Given the description of an element on the screen output the (x, y) to click on. 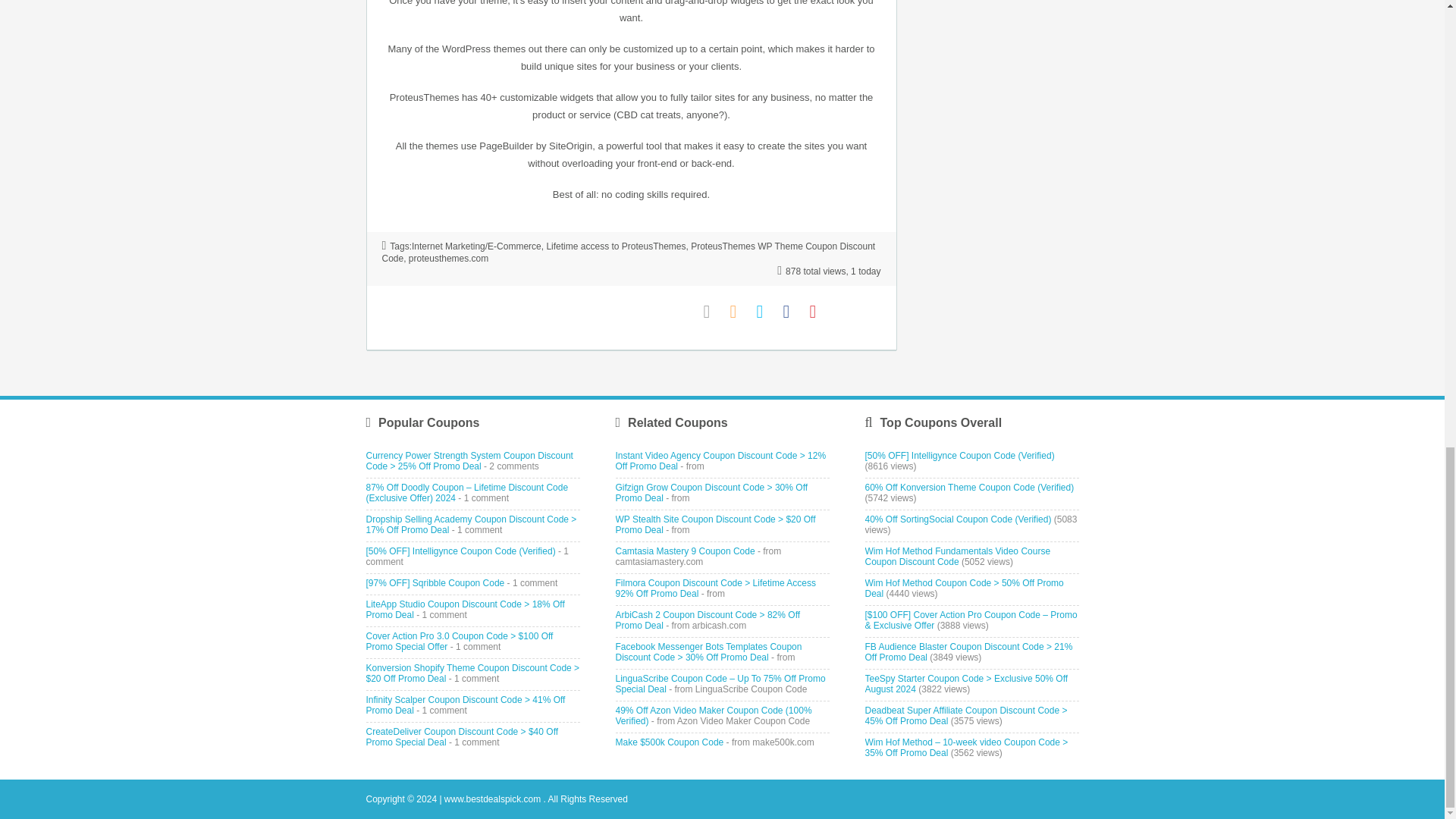
proteusthemes.com (448, 258)
Digg (844, 312)
ProteusThemes WP Theme Coupon Discount Code (628, 251)
Reddit (871, 312)
Facebook (791, 312)
Twitter (765, 312)
Lifetime access to ProteusThemes (615, 245)
Pinterest (818, 312)
Email to Friend (712, 312)
Coupon Comments RSS (738, 312)
